Given the description of an element on the screen output the (x, y) to click on. 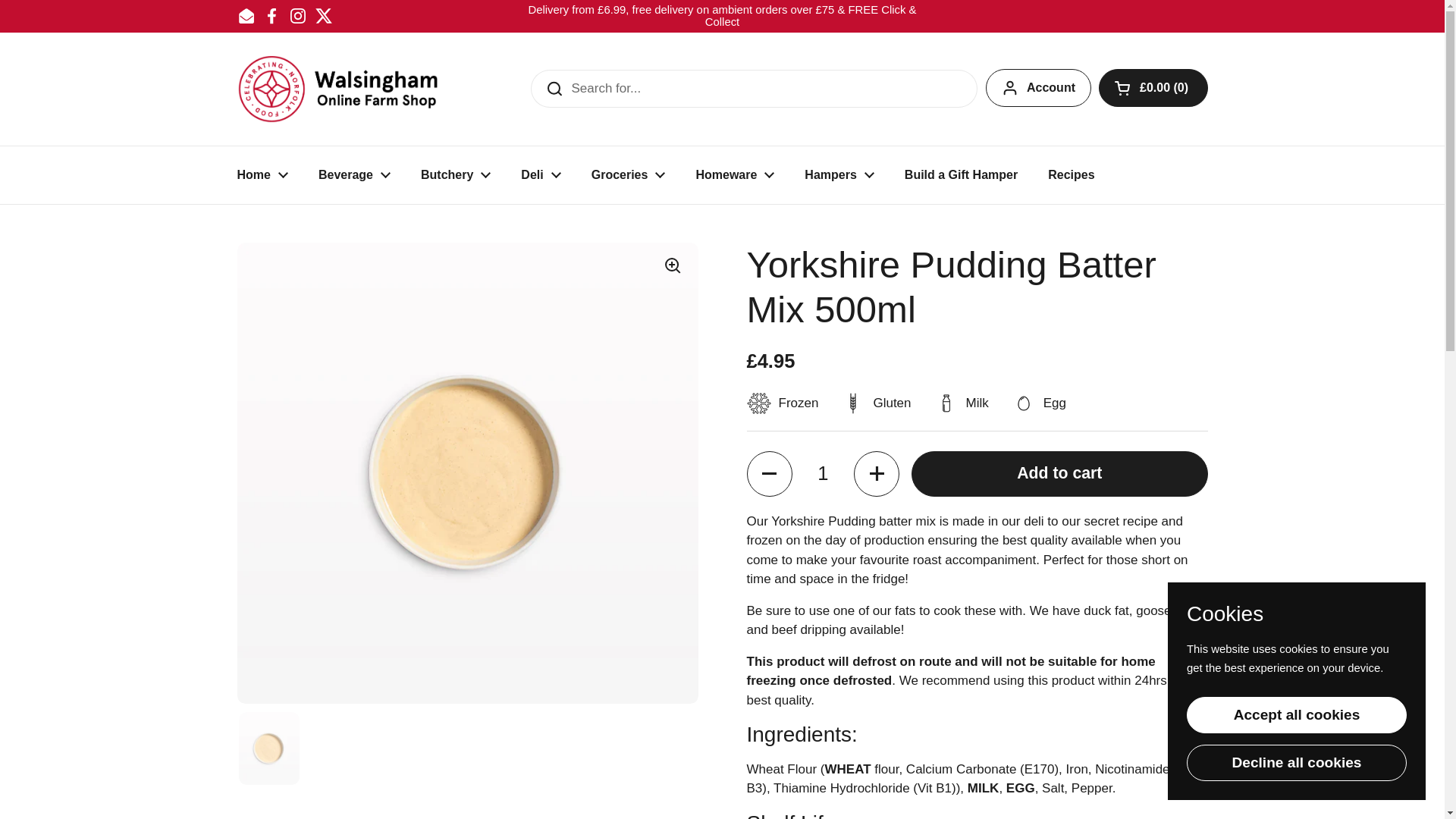
Home (261, 175)
Instagram (296, 15)
Deli (540, 175)
Butchery (455, 175)
Twitter (322, 15)
Walsingham Farm Shop (336, 88)
1 (822, 473)
Facebook (271, 15)
Home (261, 175)
